Given the description of an element on the screen output the (x, y) to click on. 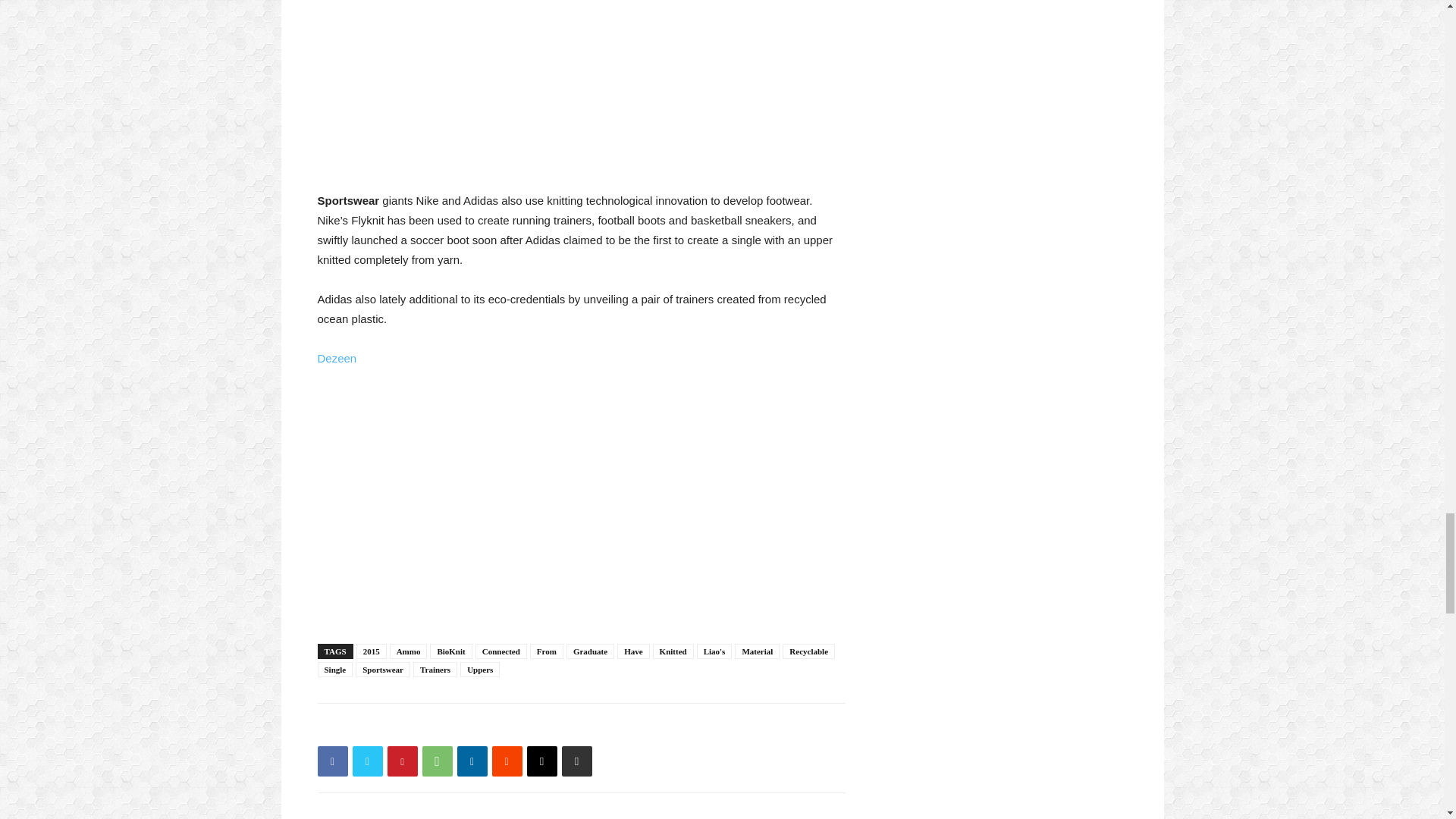
BioKnit (450, 651)
Facebook (332, 761)
Dezeen (336, 358)
Pinterest (401, 761)
bottomFacebookLike (430, 727)
Twitter (366, 761)
Ammo (409, 651)
2015 (371, 651)
